Given the description of an element on the screen output the (x, y) to click on. 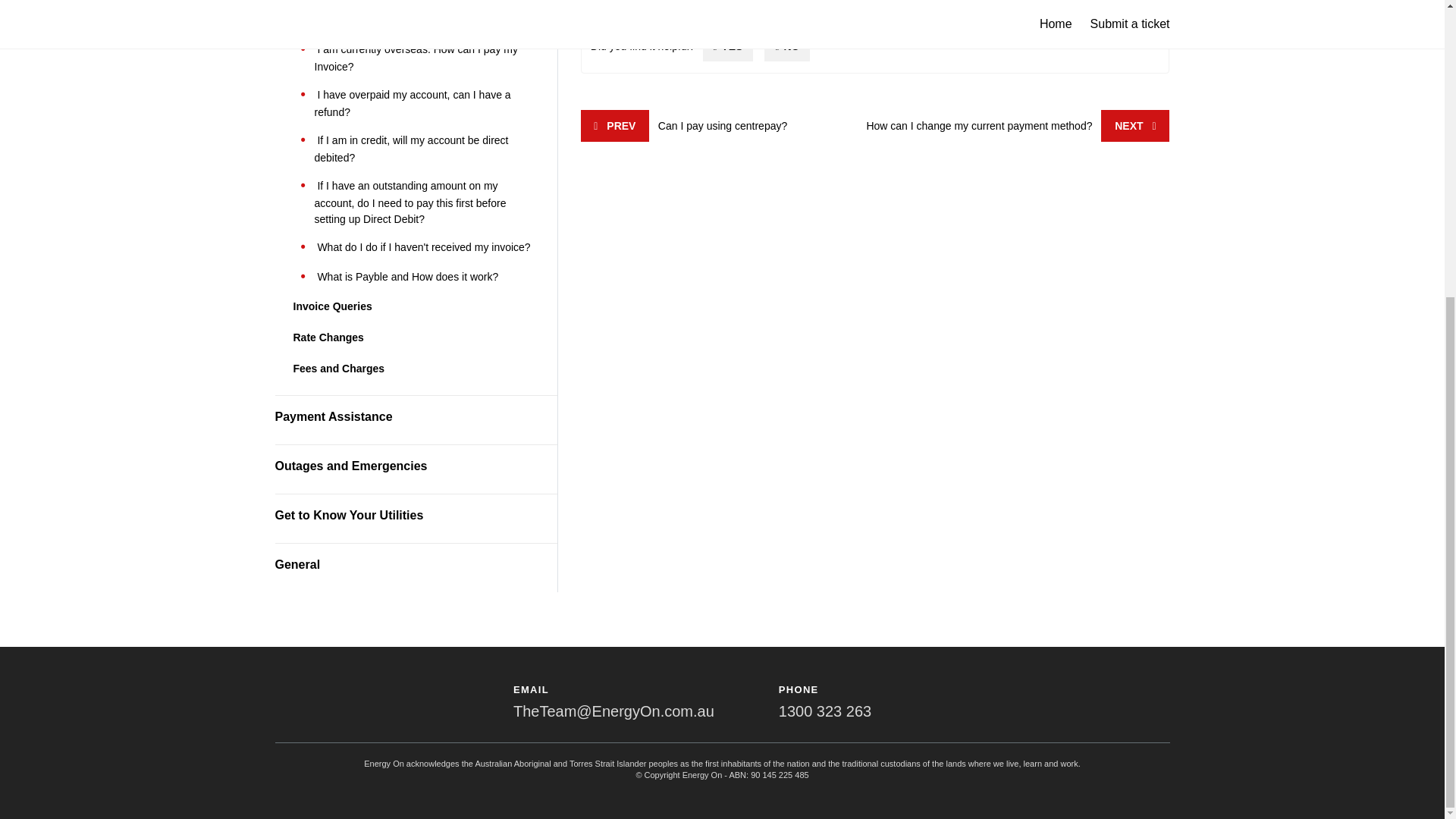
How can I pay my Invoice? (380, 19)
Phone (824, 710)
Email (613, 710)
